Given the description of an element on the screen output the (x, y) to click on. 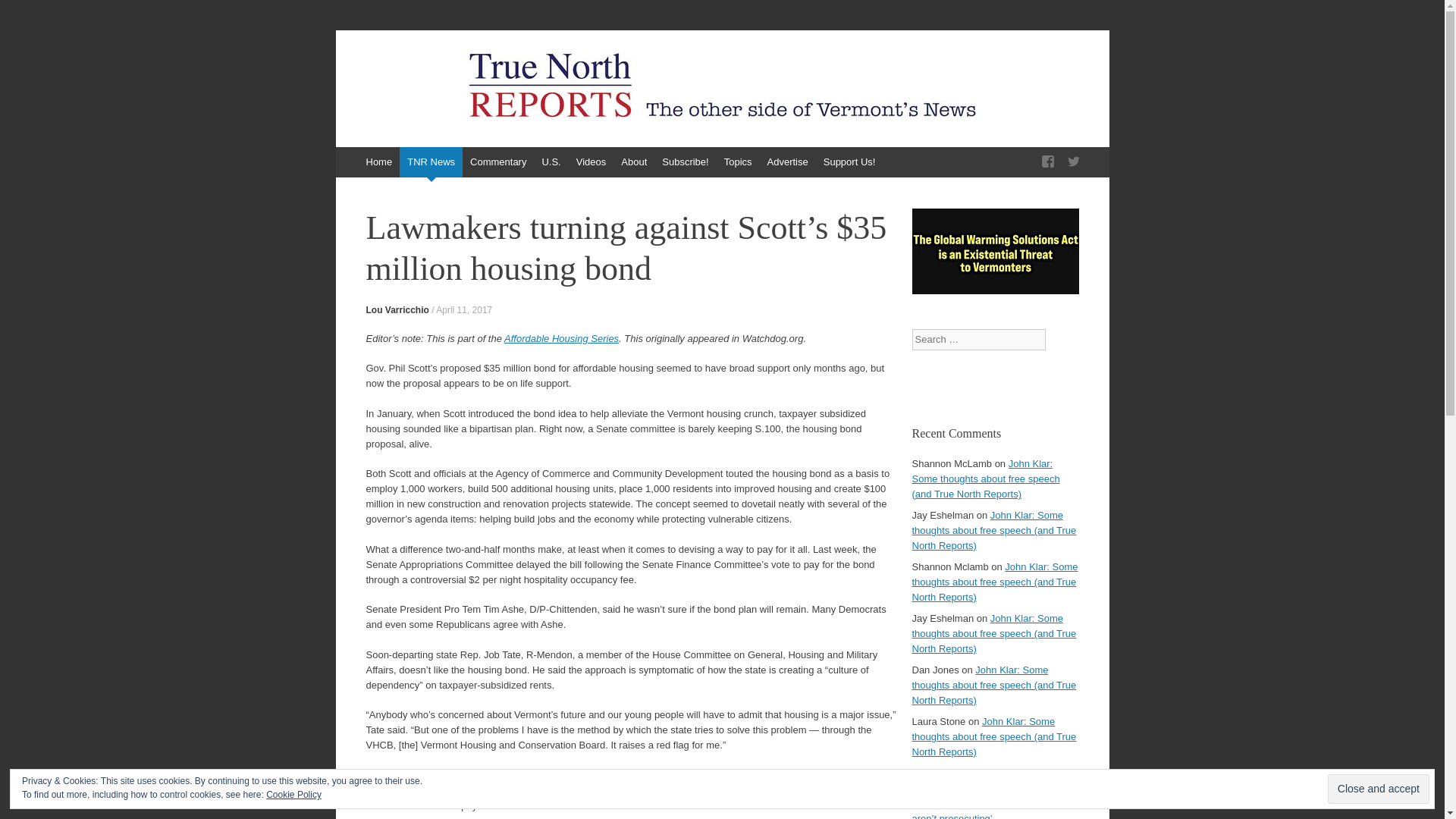
Home (378, 162)
Skip to content (342, 154)
True North Reports (465, 80)
TNR News (430, 162)
Close and accept (1378, 788)
Topics (738, 162)
True North Reports (465, 80)
U.S. (550, 162)
Subscribe! (684, 162)
Commentary (498, 162)
